Given the description of an element on the screen output the (x, y) to click on. 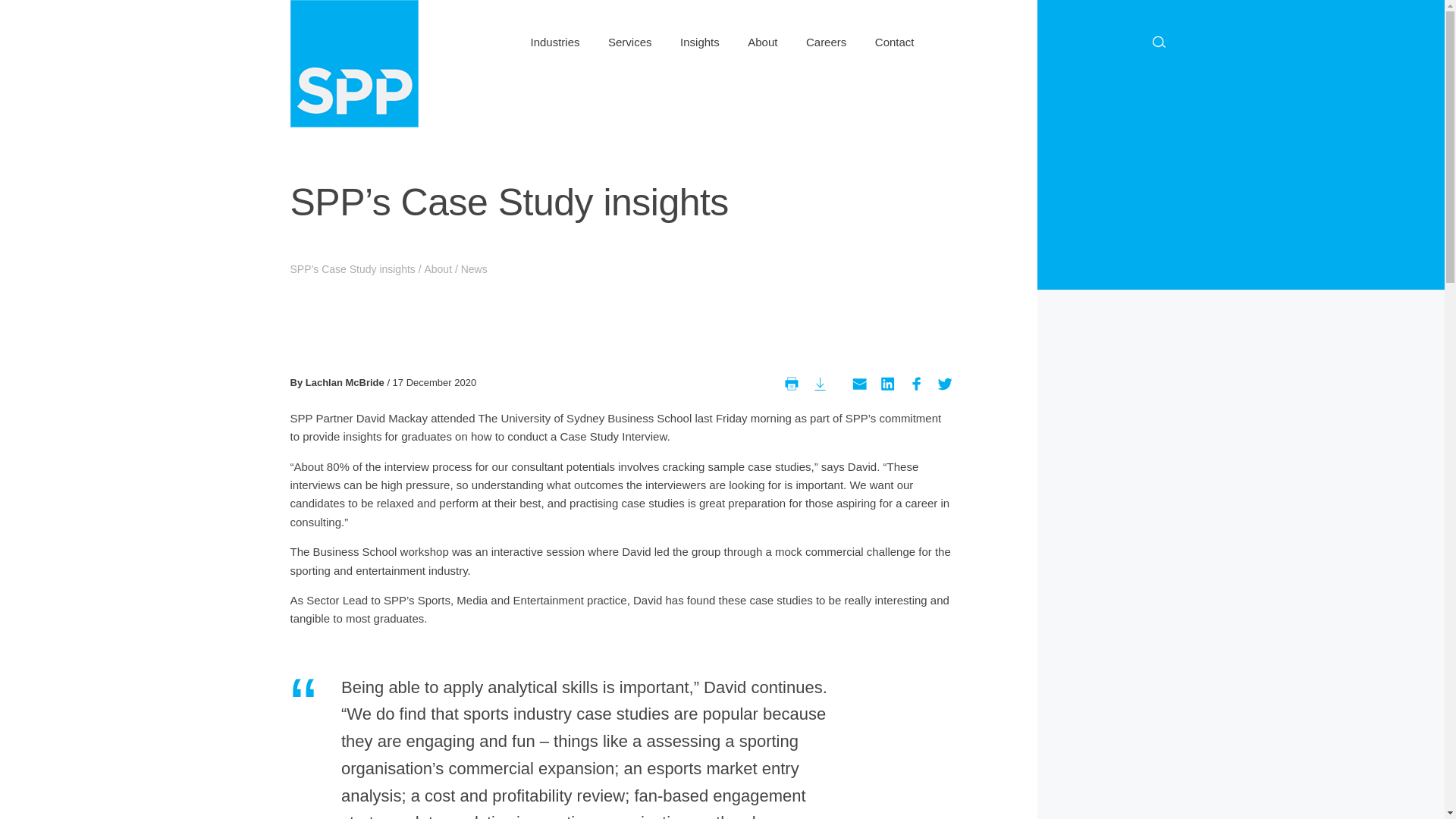
Insights (699, 29)
Contact (894, 29)
About (762, 29)
Services (629, 29)
Industries (555, 29)
Careers (826, 29)
